Given the description of an element on the screen output the (x, y) to click on. 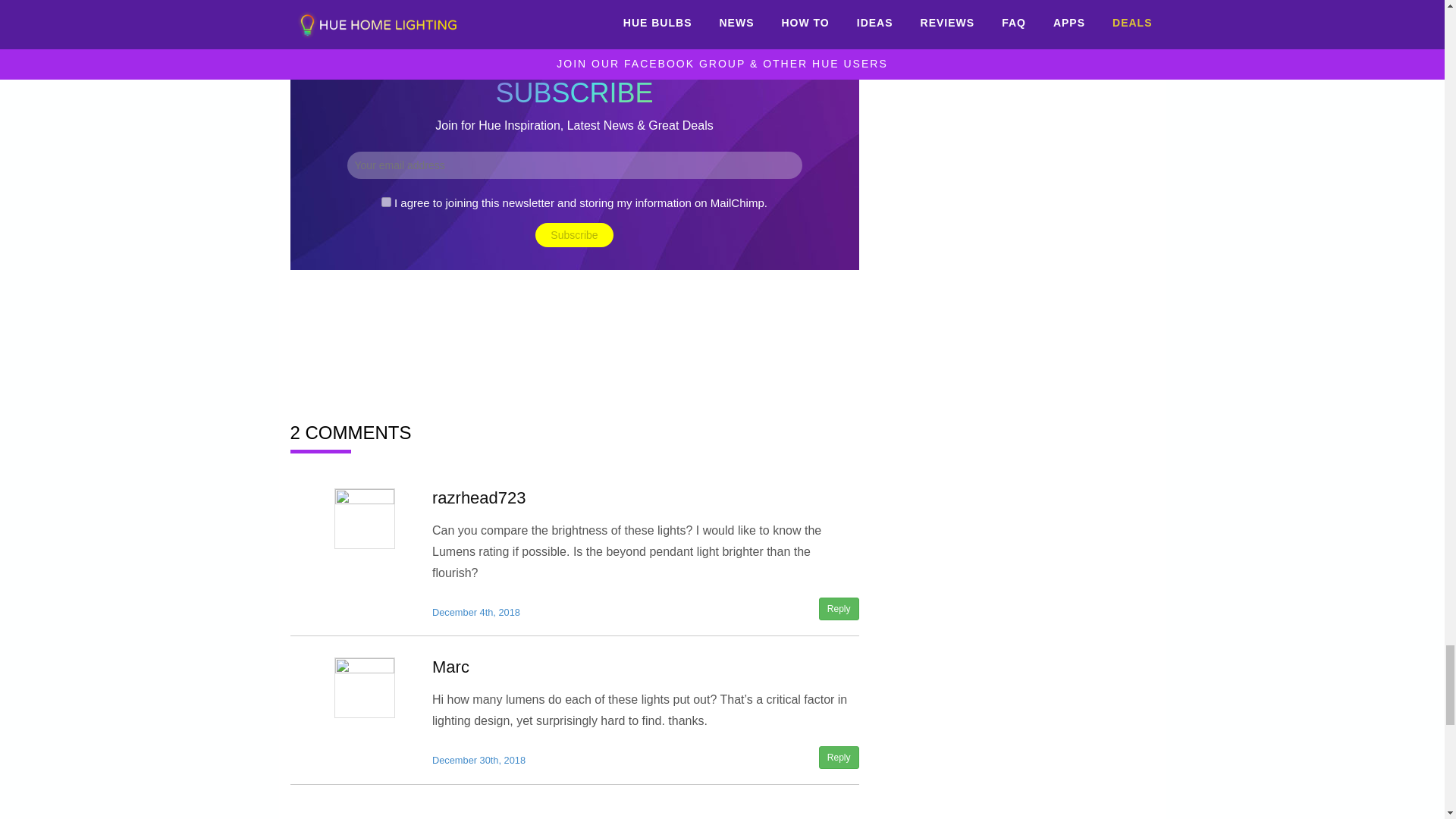
December 30th, 2018 (478, 759)
consent (386, 202)
December 4th, 2018 (475, 612)
Reply (838, 608)
Subscribe (573, 234)
Reply (838, 757)
Subscribe (573, 234)
